Given the description of an element on the screen output the (x, y) to click on. 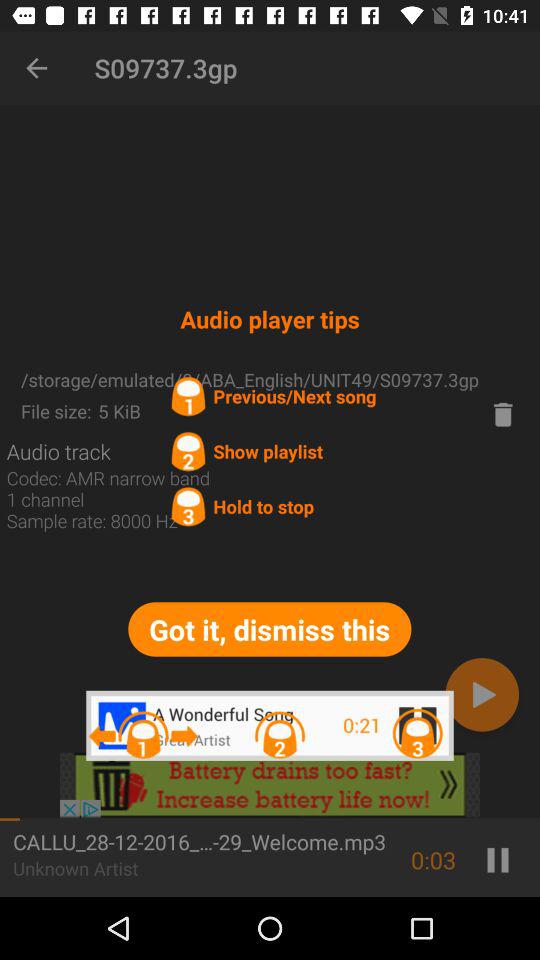
select the icon to the right of the callu_28 12 2016_9 icon (433, 860)
